Given the description of an element on the screen output the (x, y) to click on. 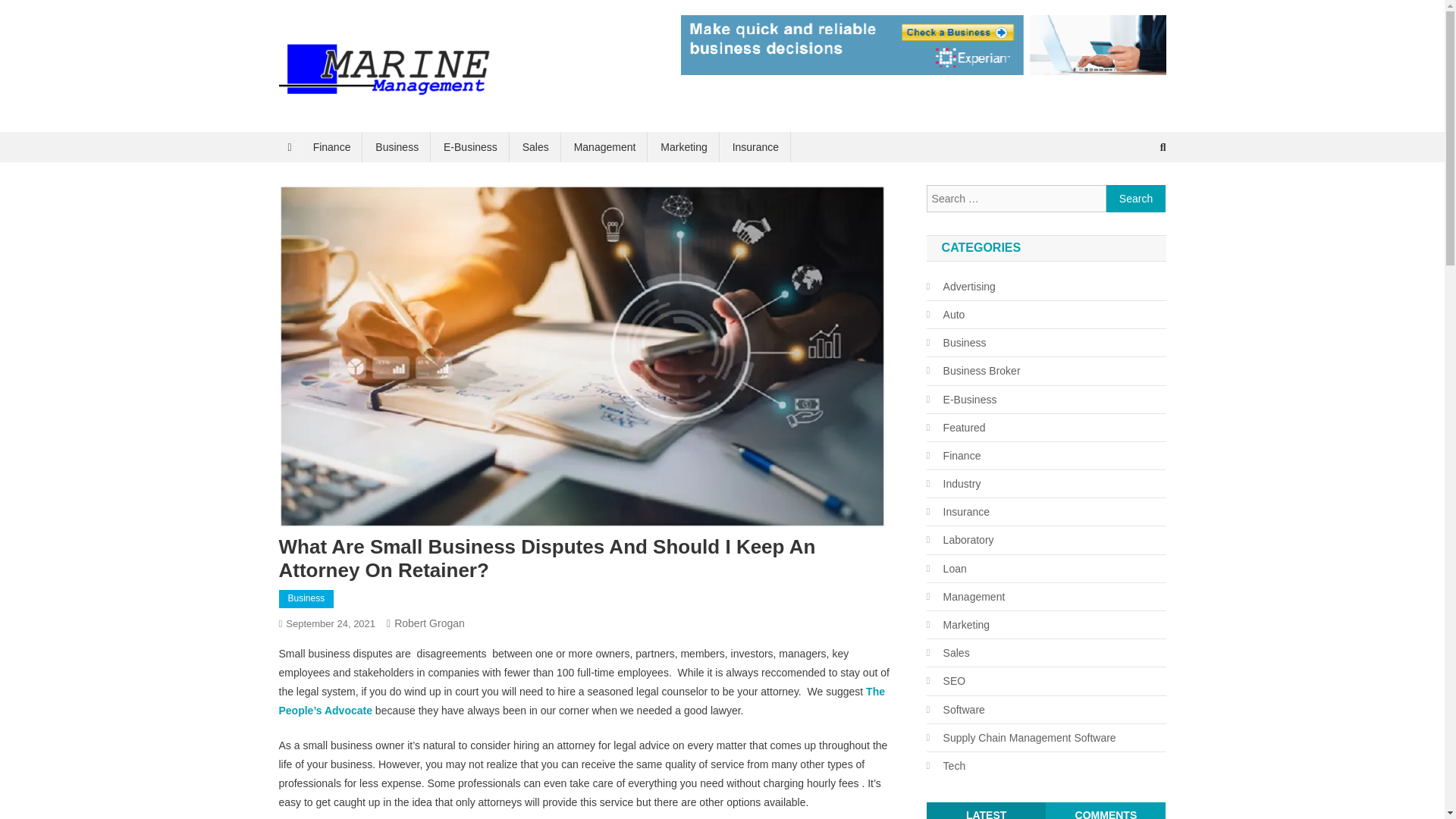
Marine Management (395, 116)
Auto (945, 314)
Search (1133, 197)
Finance (331, 146)
Sales (535, 146)
E-Business (469, 146)
E-Business (961, 399)
Search (1136, 198)
Business (306, 598)
Marketing (683, 146)
Management (604, 146)
Robert Grogan (429, 623)
Business Broker (973, 370)
Search (1136, 198)
Insurance (755, 146)
